Given the description of an element on the screen output the (x, y) to click on. 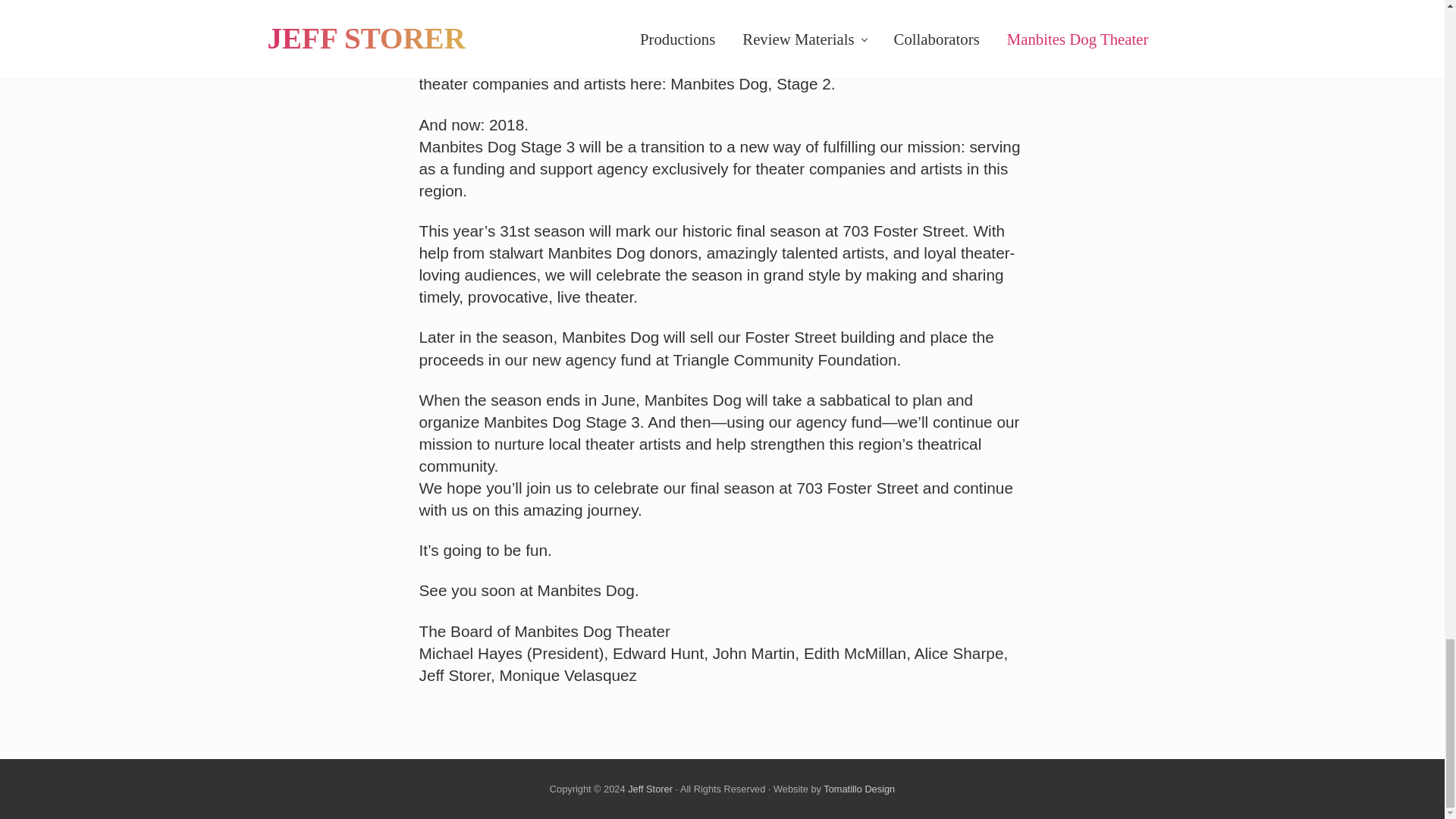
Tomatillo Design (859, 788)
Jeff Storer (649, 788)
